Given the description of an element on the screen output the (x, y) to click on. 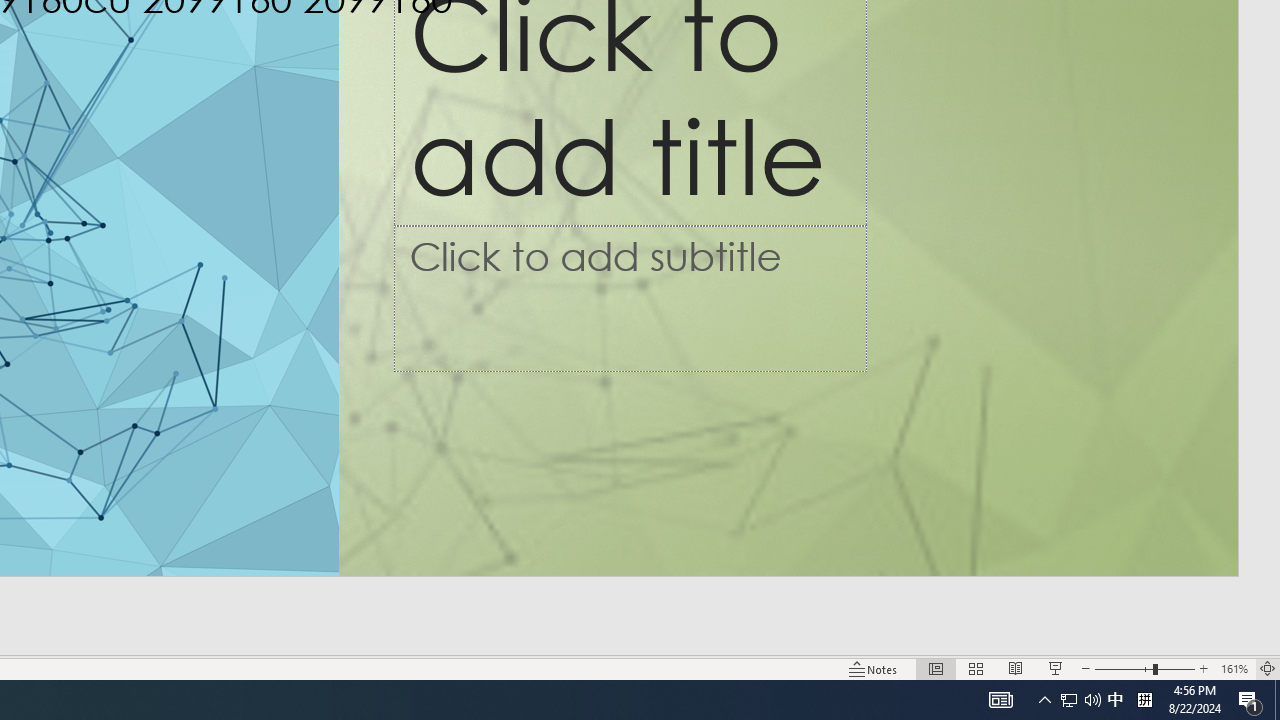
Zoom 161% (1234, 668)
